Given the description of an element on the screen output the (x, y) to click on. 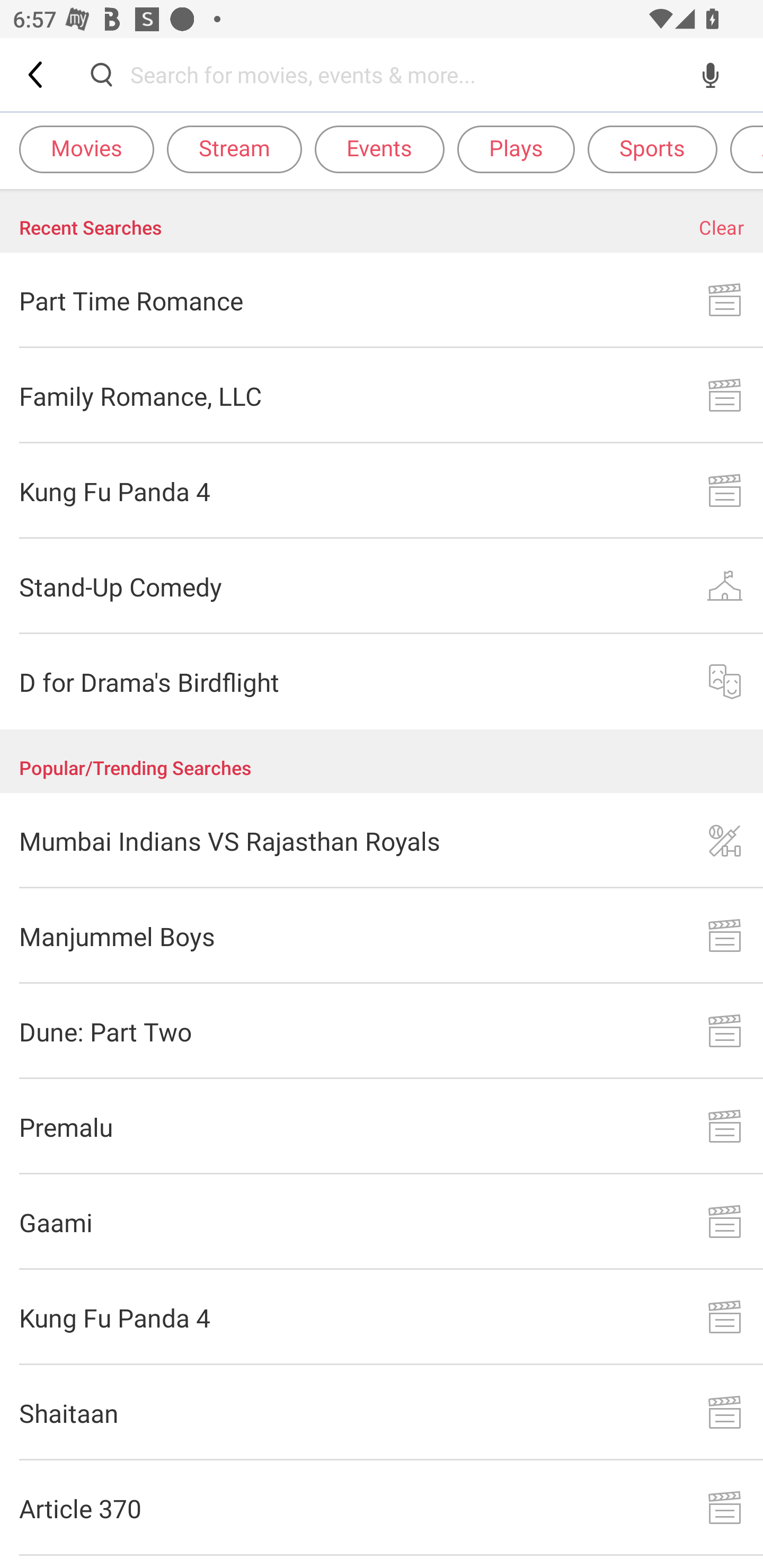
Back (36, 74)
Search for movies, events & more... (406, 74)
Movies (86, 148)
Stream (234, 148)
Events (379, 148)
Plays (515, 148)
Sports (652, 148)
Recent Searches Clear (381, 220)
Part Time Romance (381, 300)
Family Romance, LLC (381, 395)
Kung Fu Panda 4 (381, 491)
Stand-Up Comedy (381, 586)
D for Drama's Birdflight (381, 681)
Popular/Trending Searches (381, 761)
Mumbai Indians VS Rajasthan Royals (381, 841)
Manjummel Boys (381, 936)
Dune: Part Two (381, 1030)
Premalu (381, 1126)
Gaami (381, 1222)
Kung Fu Panda 4 (381, 1317)
Shaitaan (381, 1412)
Article 370 (381, 1507)
